Given the description of an element on the screen output the (x, y) to click on. 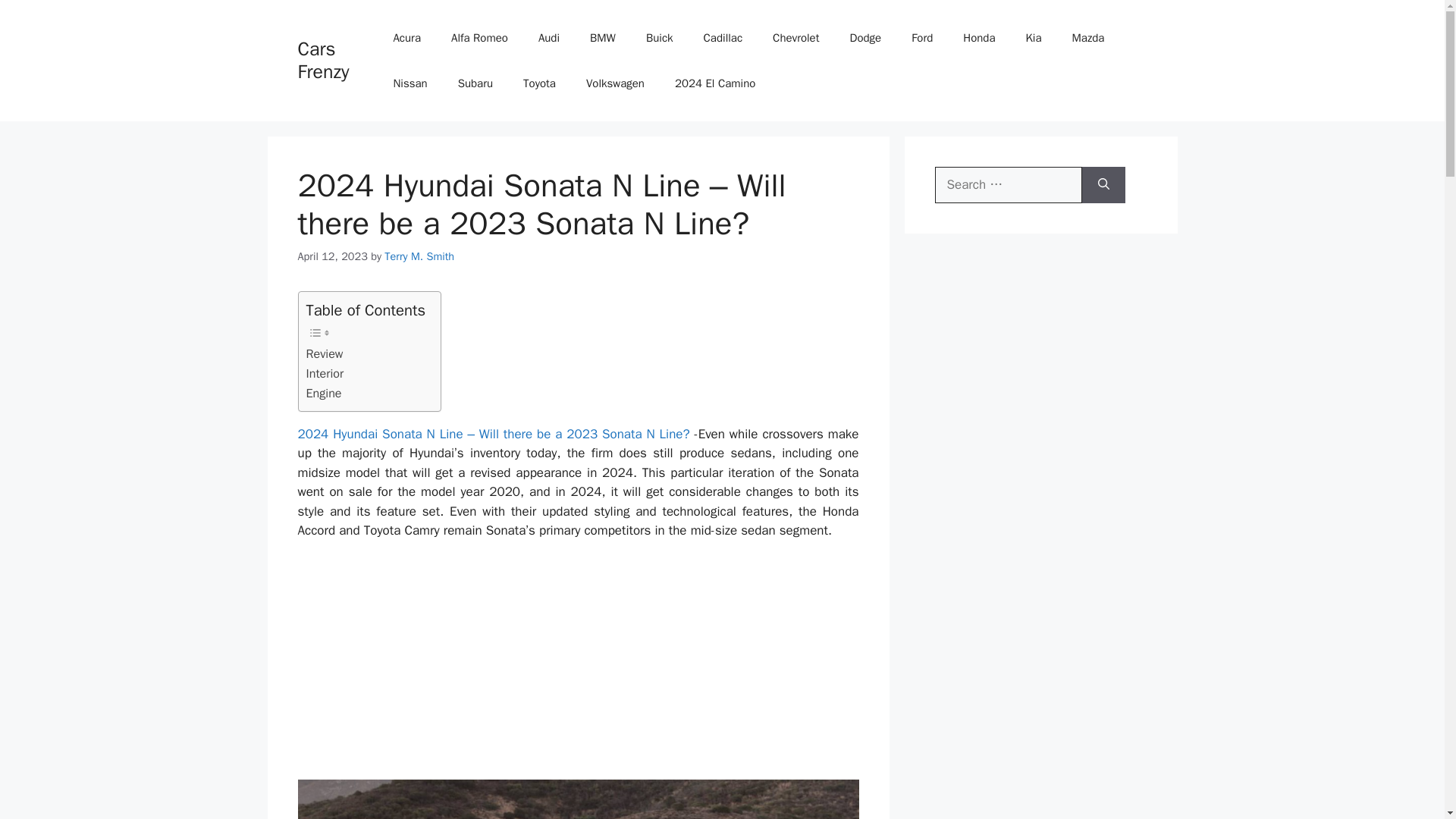
Dodge (865, 37)
Review (324, 353)
Subaru (475, 83)
Nissan (409, 83)
2024 Hyundai Sonata N Line (578, 799)
Chevrolet (795, 37)
Engine (323, 393)
Cars Frenzy (323, 59)
View all posts by Terry M. Smith (419, 255)
Acura (406, 37)
